Given the description of an element on the screen output the (x, y) to click on. 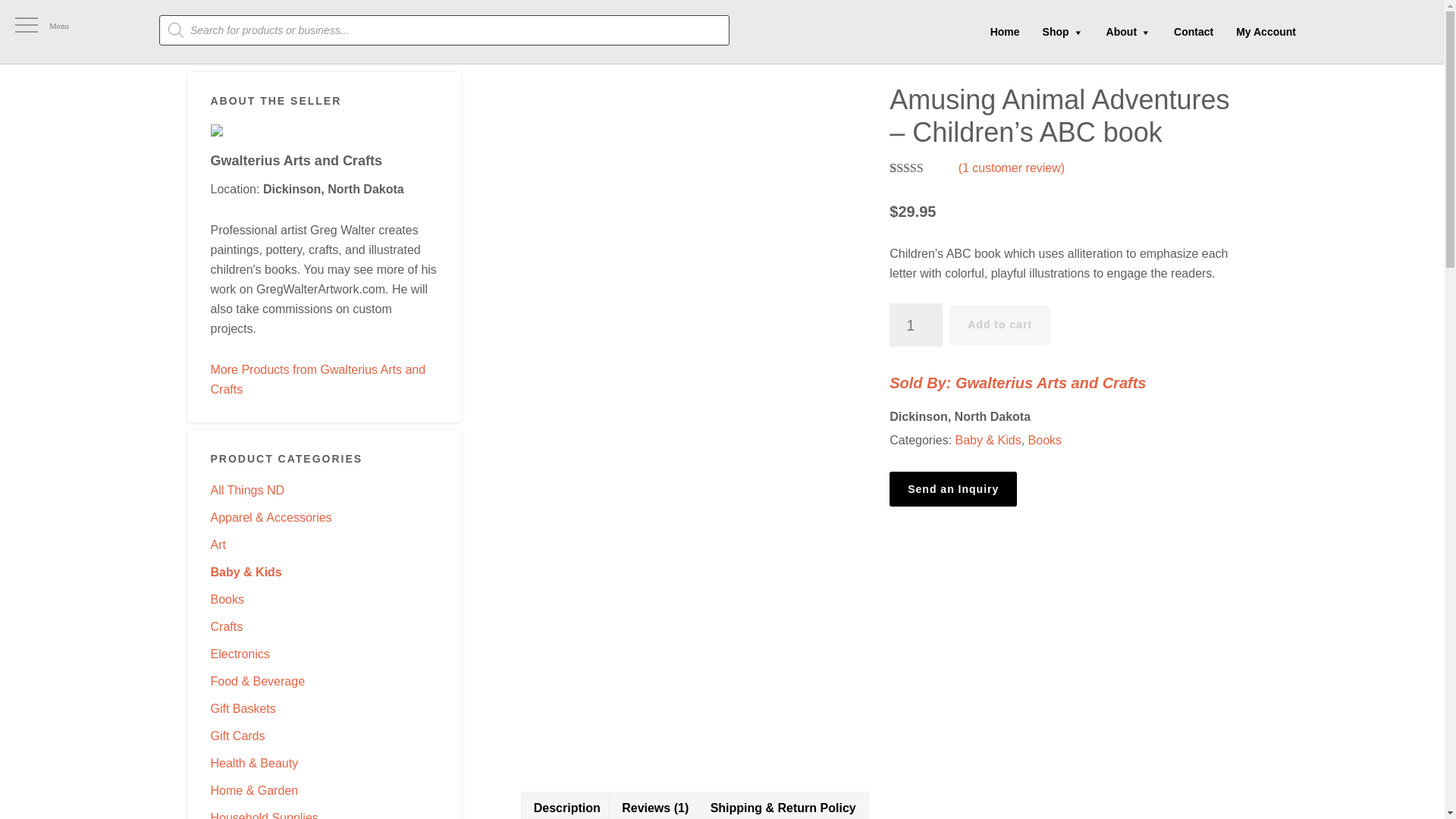
Shop (1062, 32)
Gift Baskets (243, 707)
Shop North Dakota (100, 32)
Art (218, 544)
All Things ND (248, 490)
More Products from Gwalterius Arts and Crafts (318, 379)
Books (227, 599)
Household Supplies (264, 815)
Home (1004, 31)
